Given the description of an element on the screen output the (x, y) to click on. 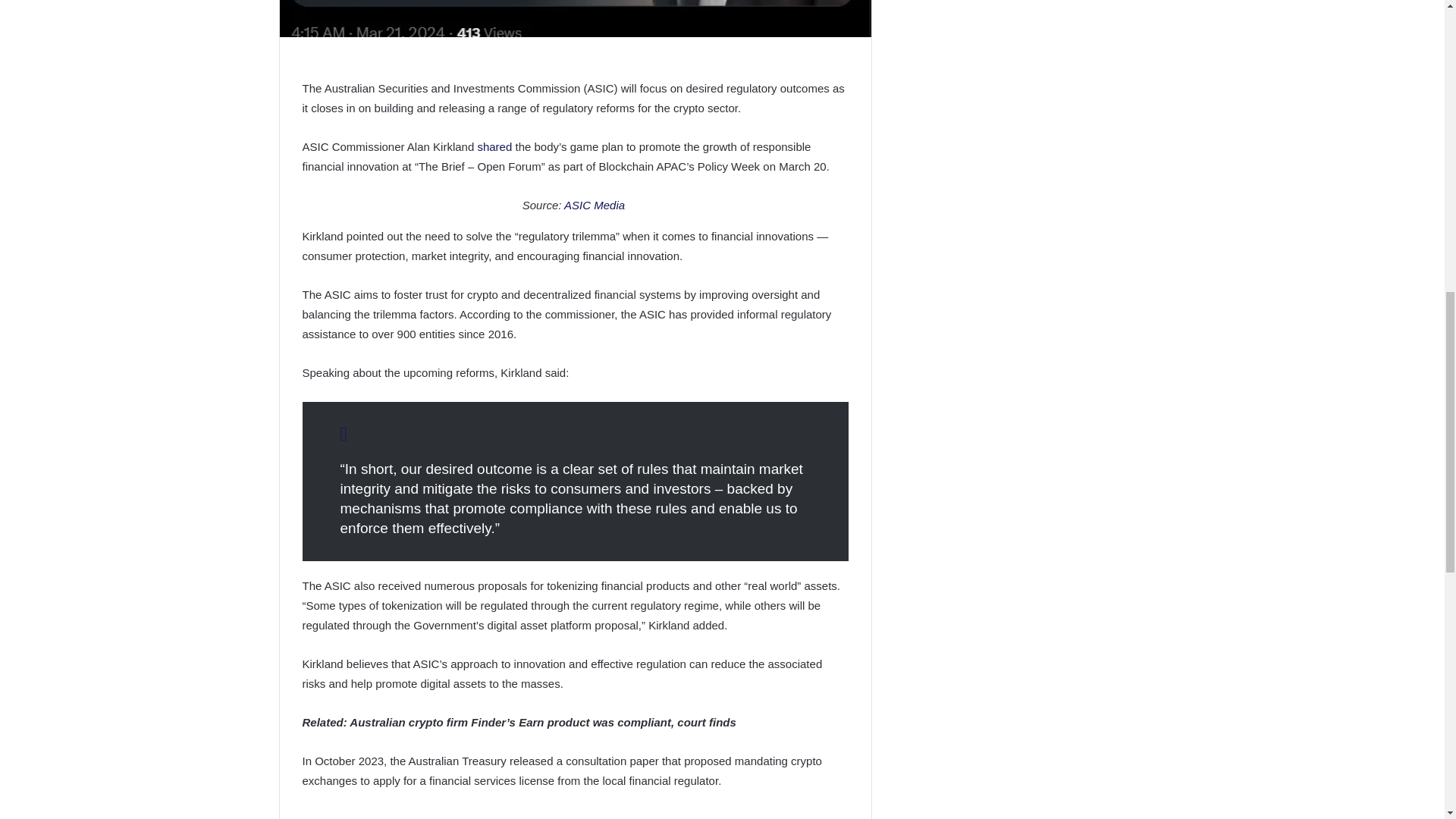
shared (494, 146)
ASIC Media  (595, 205)
